Given the description of an element on the screen output the (x, y) to click on. 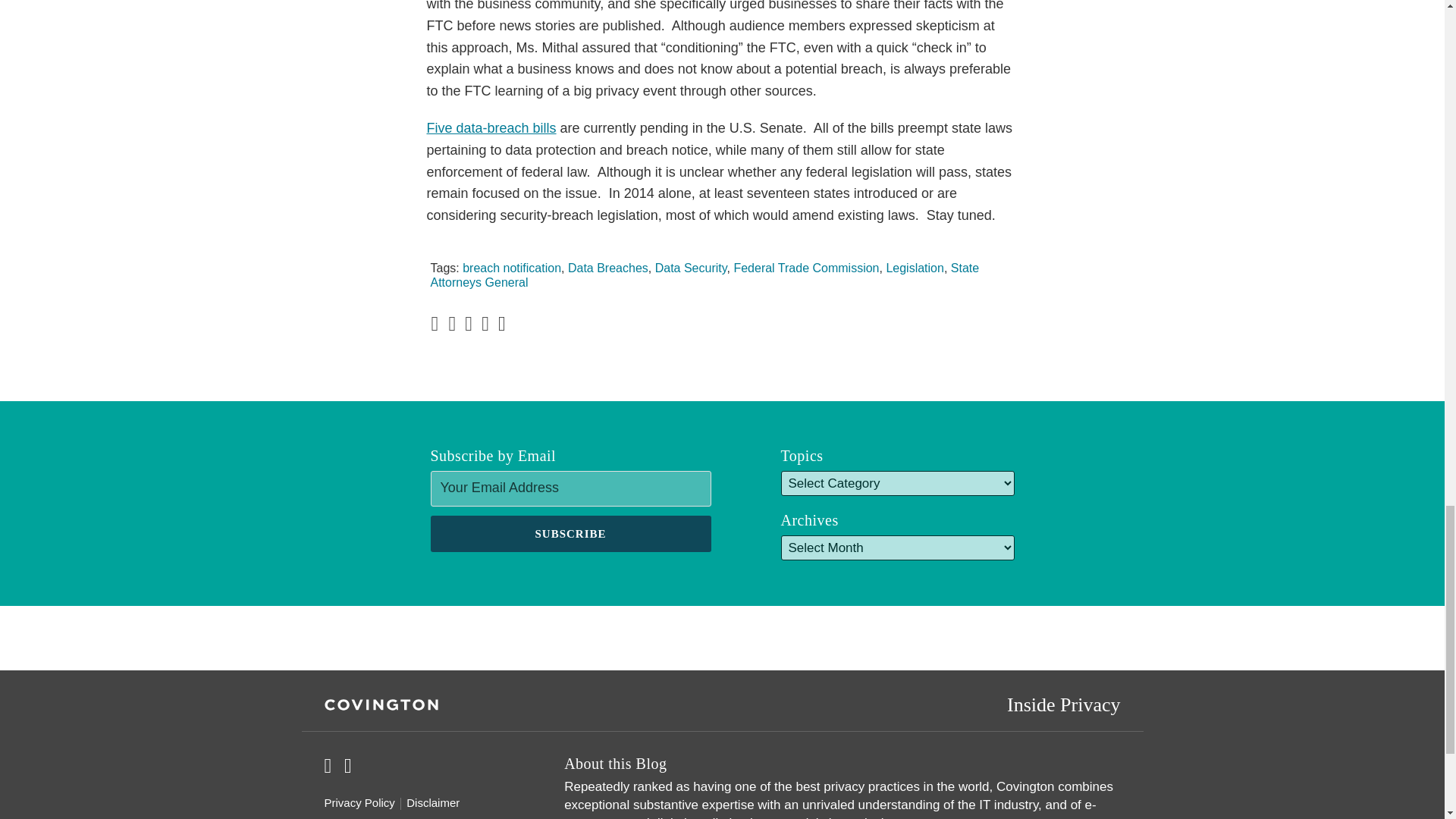
Subscribe (570, 533)
Data Breaches (607, 267)
Data Security (690, 267)
Inside Privacy (1063, 704)
Legislation (914, 267)
Federal Trade Commission (806, 267)
Subscribe (570, 533)
Five data-breach bills (491, 127)
breach notification (511, 267)
State Attorneys General (704, 275)
